Given the description of an element on the screen output the (x, y) to click on. 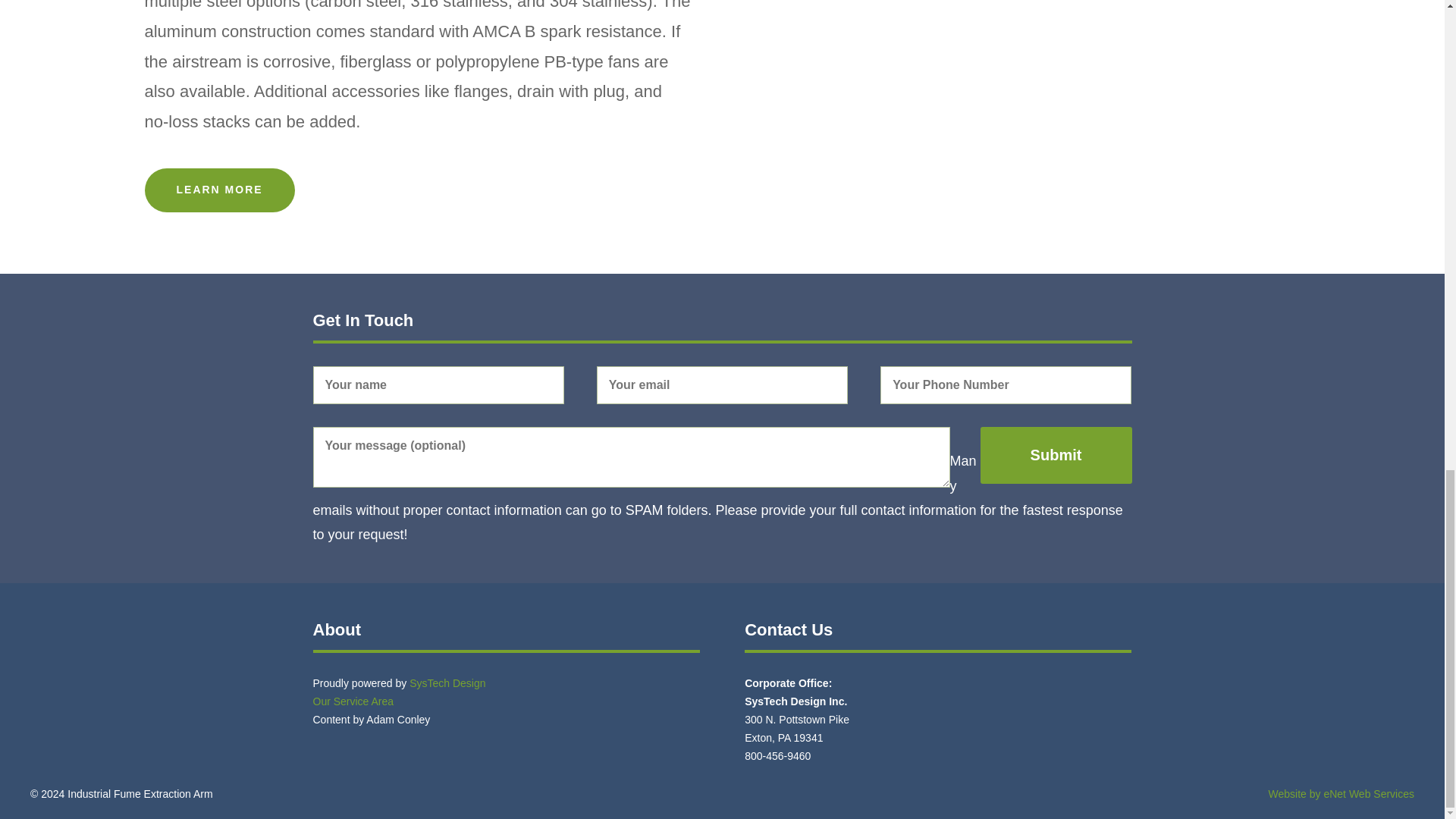
Submit (1055, 455)
Our Service Area (353, 701)
SysTech Design (446, 683)
Submit (1055, 455)
Website by eNet Web Services (1340, 793)
LEARN MORE (219, 190)
